Given the description of an element on the screen output the (x, y) to click on. 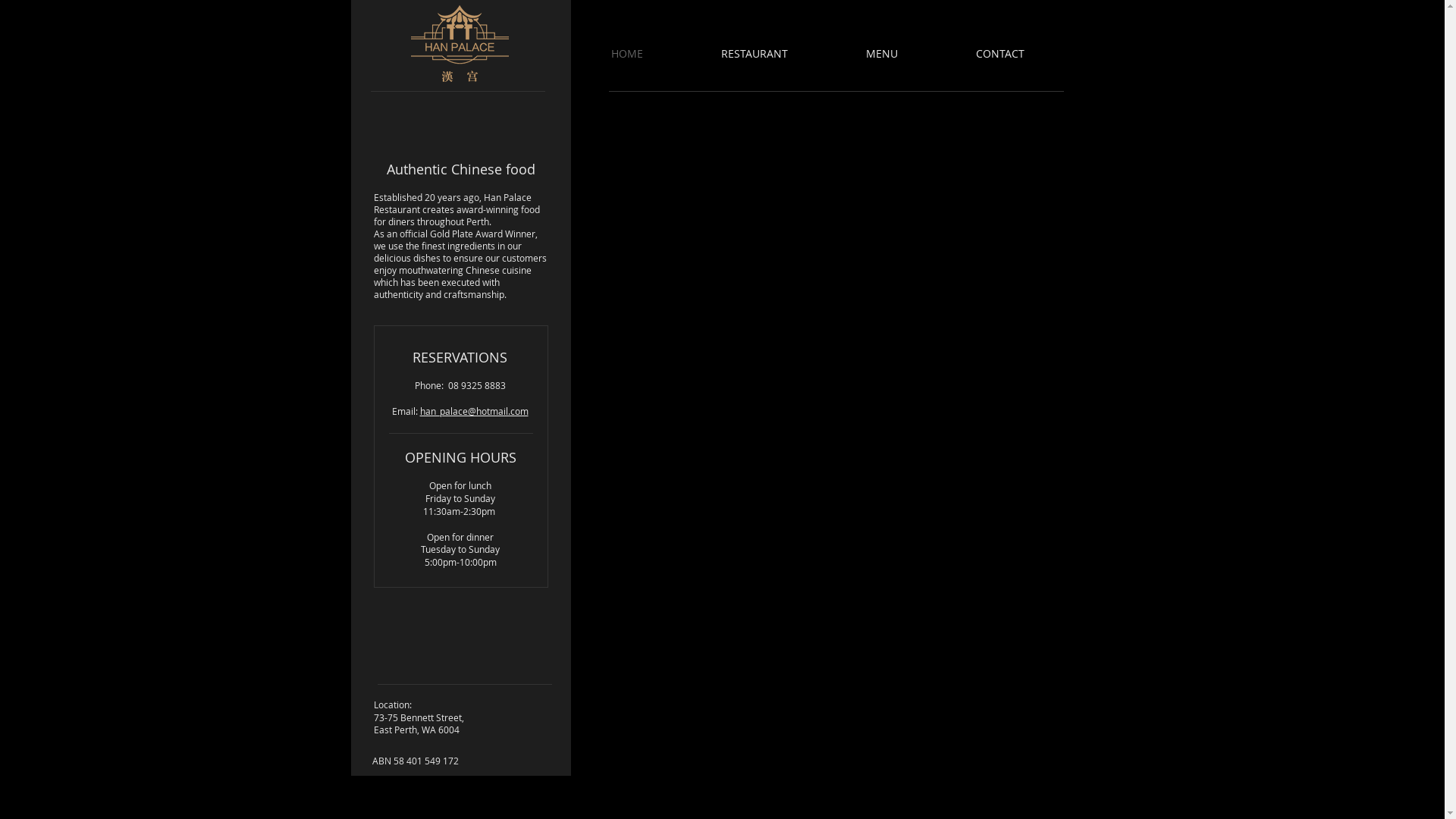
han_palace@hotmail.com Element type: text (474, 410)
MENU Element type: text (905, 53)
RESTAURANT Element type: text (777, 53)
CONTACT Element type: text (1022, 53)
HOME Element type: text (651, 53)
